Given the description of an element on the screen output the (x, y) to click on. 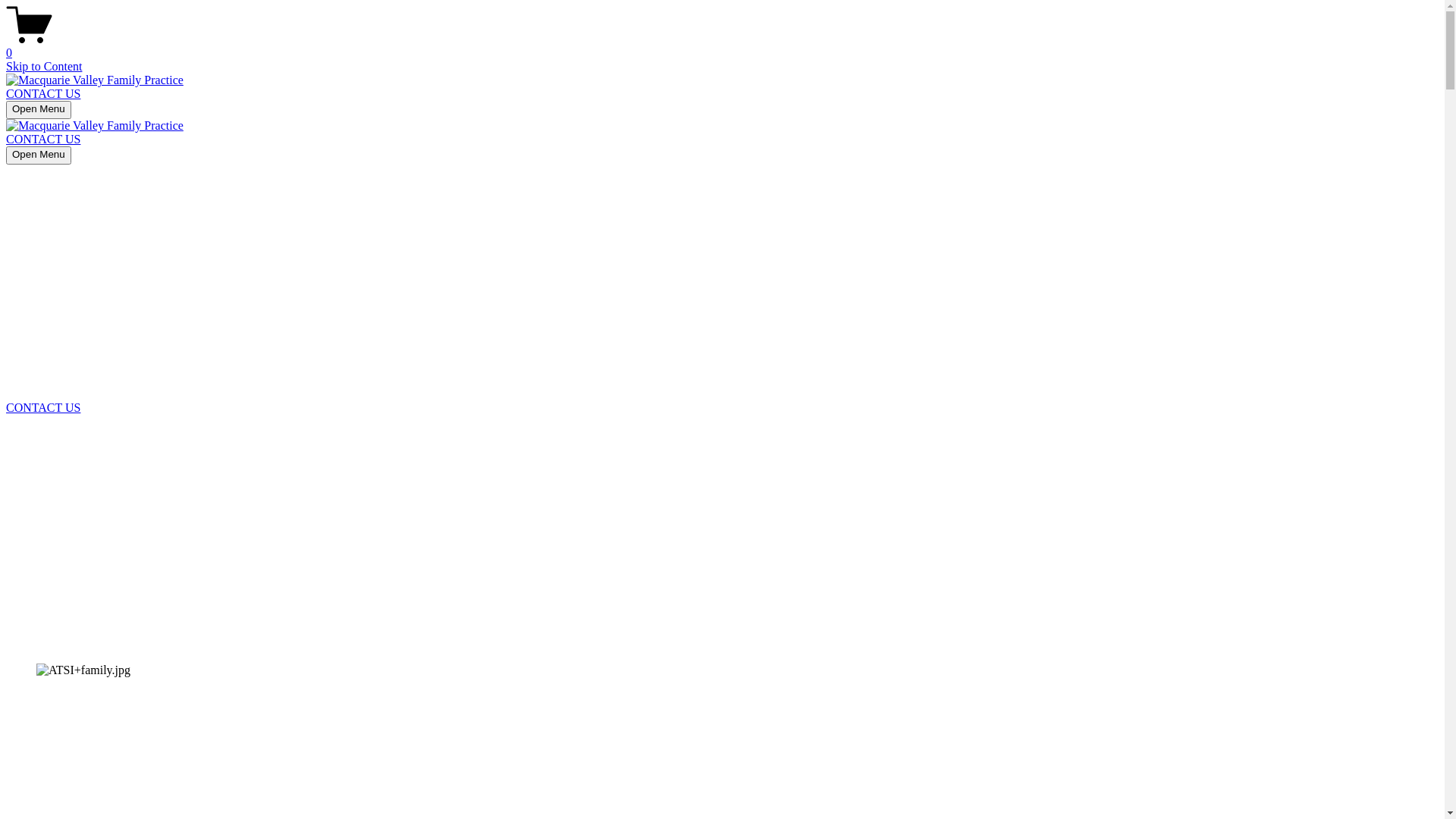
CONTACT US Element type: text (43, 138)
Skip to Content Element type: text (43, 65)
0 Element type: text (722, 45)
Open Menu Element type: text (38, 155)
Open Menu Element type: text (38, 109)
CONTACT US Element type: text (43, 93)
CONTACT US Element type: text (43, 407)
